Given the description of an element on the screen output the (x, y) to click on. 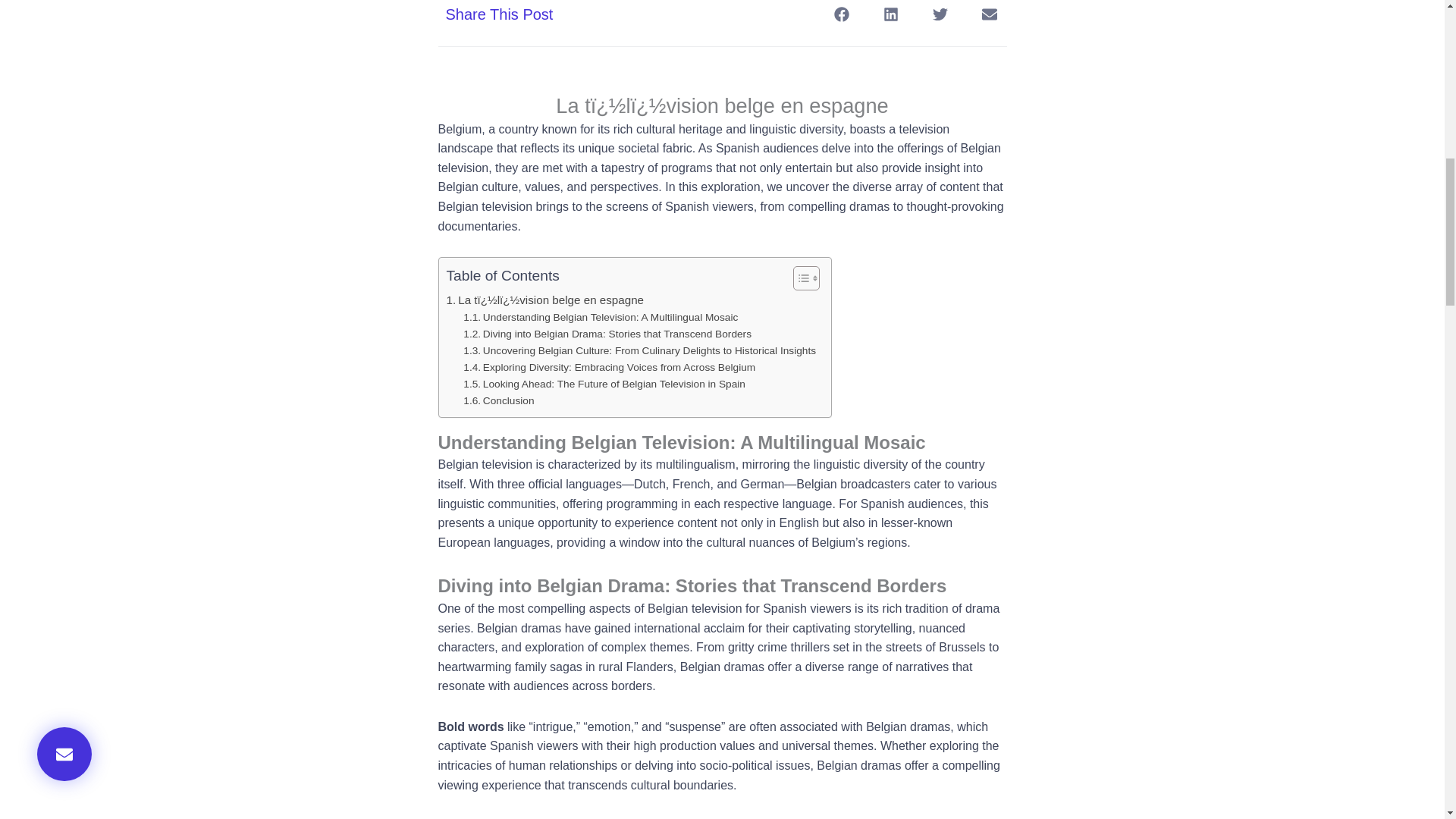
Conclusion (498, 401)
Diving into Belgian Drama: Stories that Transcend Borders (607, 334)
Understanding Belgian Television: A Multilingual Mosaic (600, 317)
Exploring Diversity: Embracing Voices from Across Belgium (609, 367)
Looking Ahead: The Future of Belgian Television in Spain (604, 384)
